Given the description of an element on the screen output the (x, y) to click on. 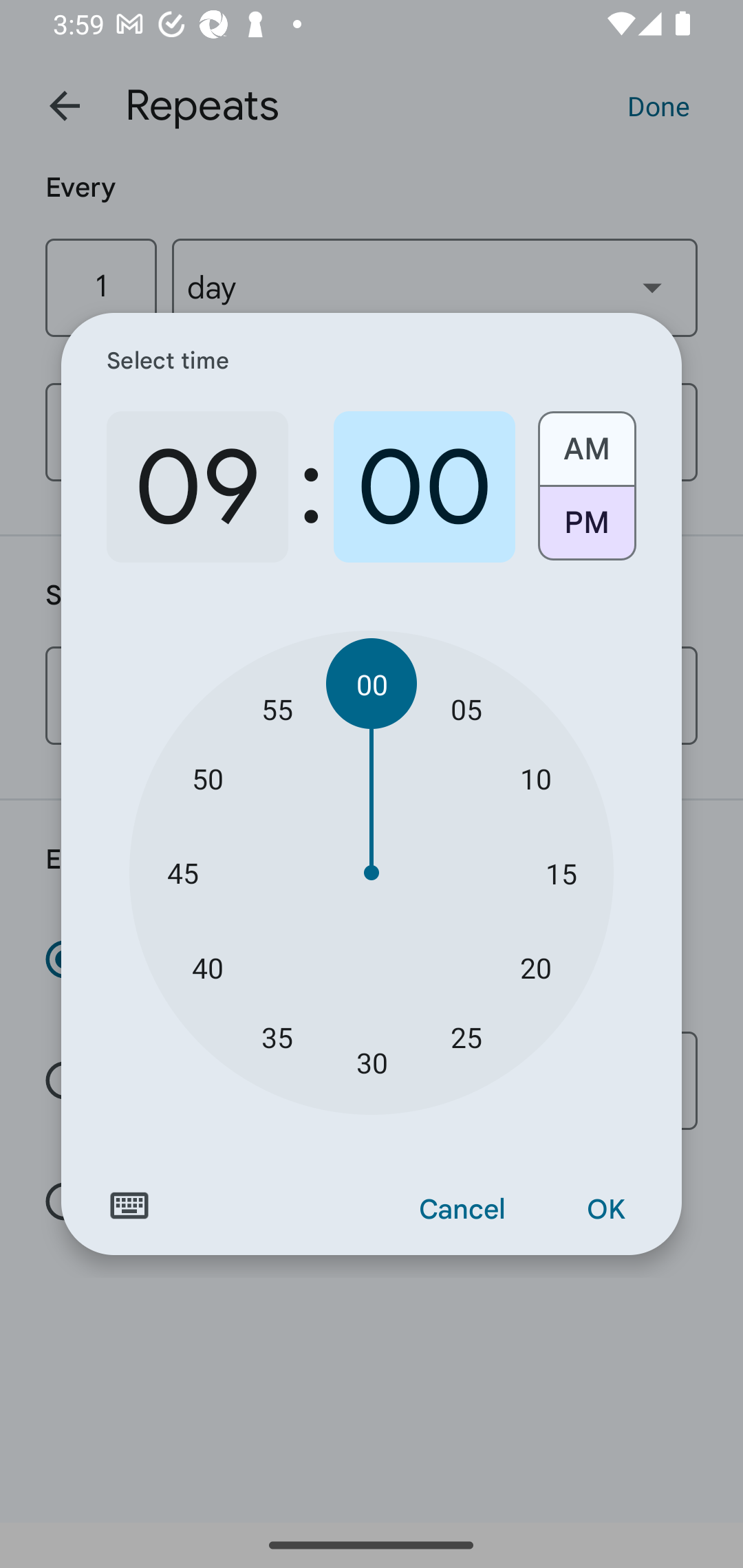
AM (586, 441)
09 9 o'clock (197, 486)
00 0 minutes (424, 486)
PM (586, 529)
00 00 minutes (371, 683)
55 55 minutes (276, 708)
05 05 minutes (466, 708)
50 50 minutes (207, 778)
10 10 minutes (535, 778)
45 45 minutes (182, 872)
15 15 minutes (561, 872)
40 40 minutes (207, 966)
20 20 minutes (535, 966)
35 35 minutes (276, 1035)
25 25 minutes (466, 1035)
30 30 minutes (371, 1062)
Switch to text input mode for the time input. (128, 1205)
Cancel (462, 1209)
OK (605, 1209)
